Given the description of an element on the screen output the (x, y) to click on. 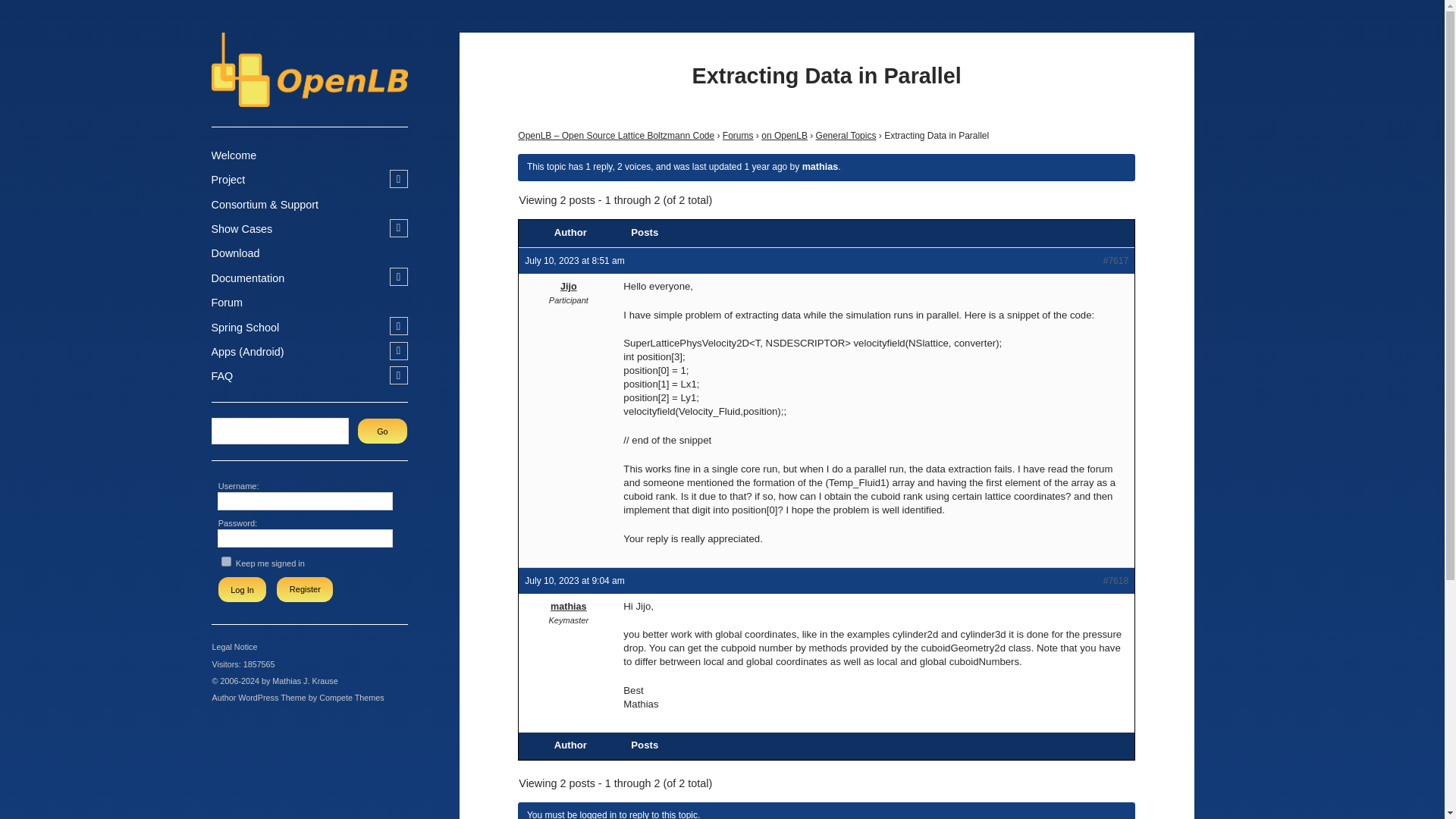
open child menu (398, 228)
View Jijo's profile (567, 286)
Project (227, 180)
Go (382, 430)
View mathias's profile (567, 606)
Show Cases (241, 229)
Reply To: Extracting Data in Parallel (765, 166)
Search for: (280, 430)
forever (226, 561)
Register (304, 589)
View mathias's profile (820, 166)
Go (382, 430)
open child menu (398, 178)
Welcome (233, 156)
OpenLB - Open source lattice Boltzmann code (309, 99)
